Given the description of an element on the screen output the (x, y) to click on. 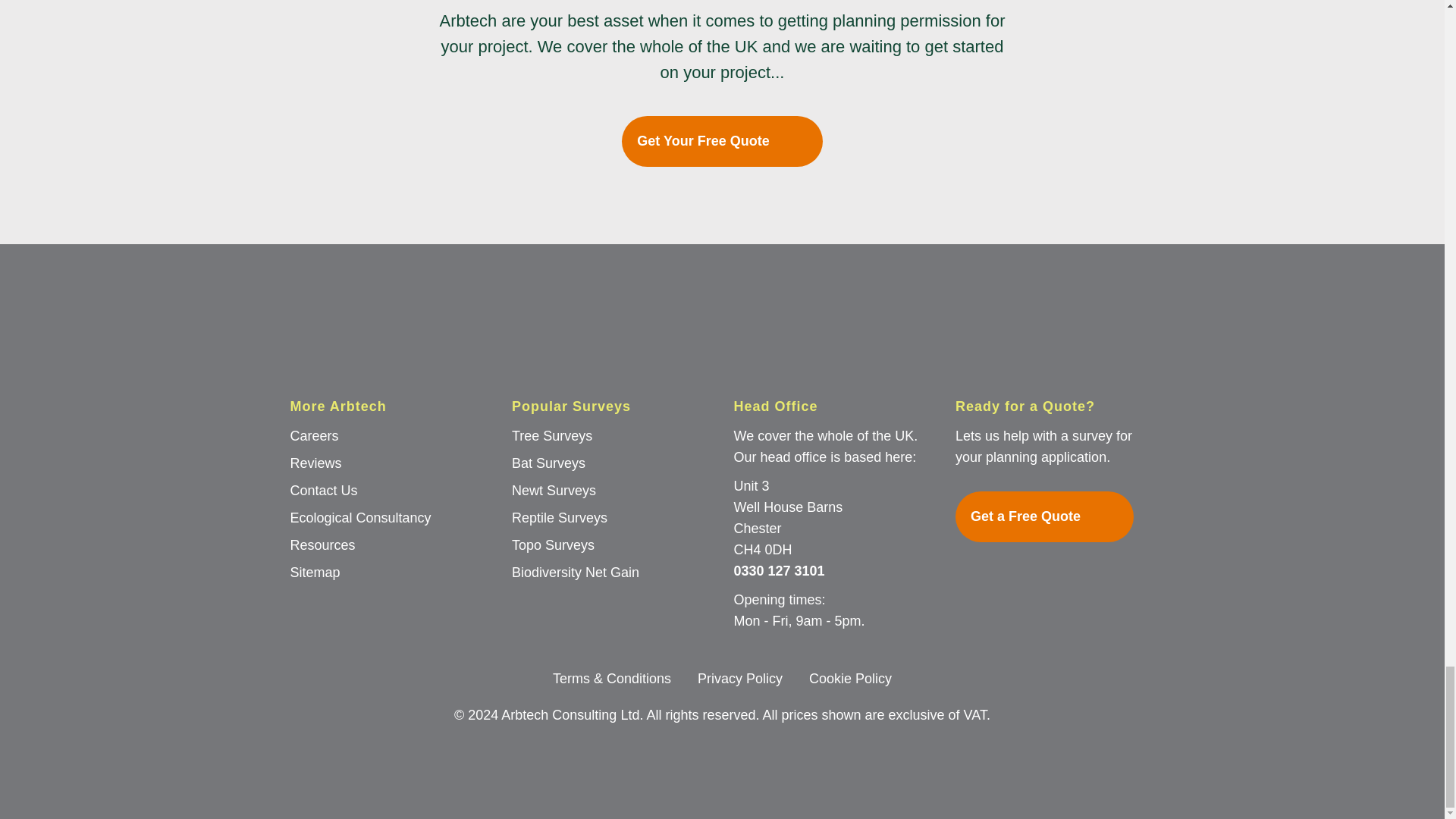
Bat Surveys (548, 462)
Reviews (314, 462)
Resources (322, 544)
Get Your Free Quote (721, 141)
Sitemap (314, 572)
Tree Surveys (552, 435)
Newt Surveys (553, 490)
Ecological Consultancy (359, 517)
Contact Us (322, 490)
Careers (313, 435)
